Given the description of an element on the screen output the (x, y) to click on. 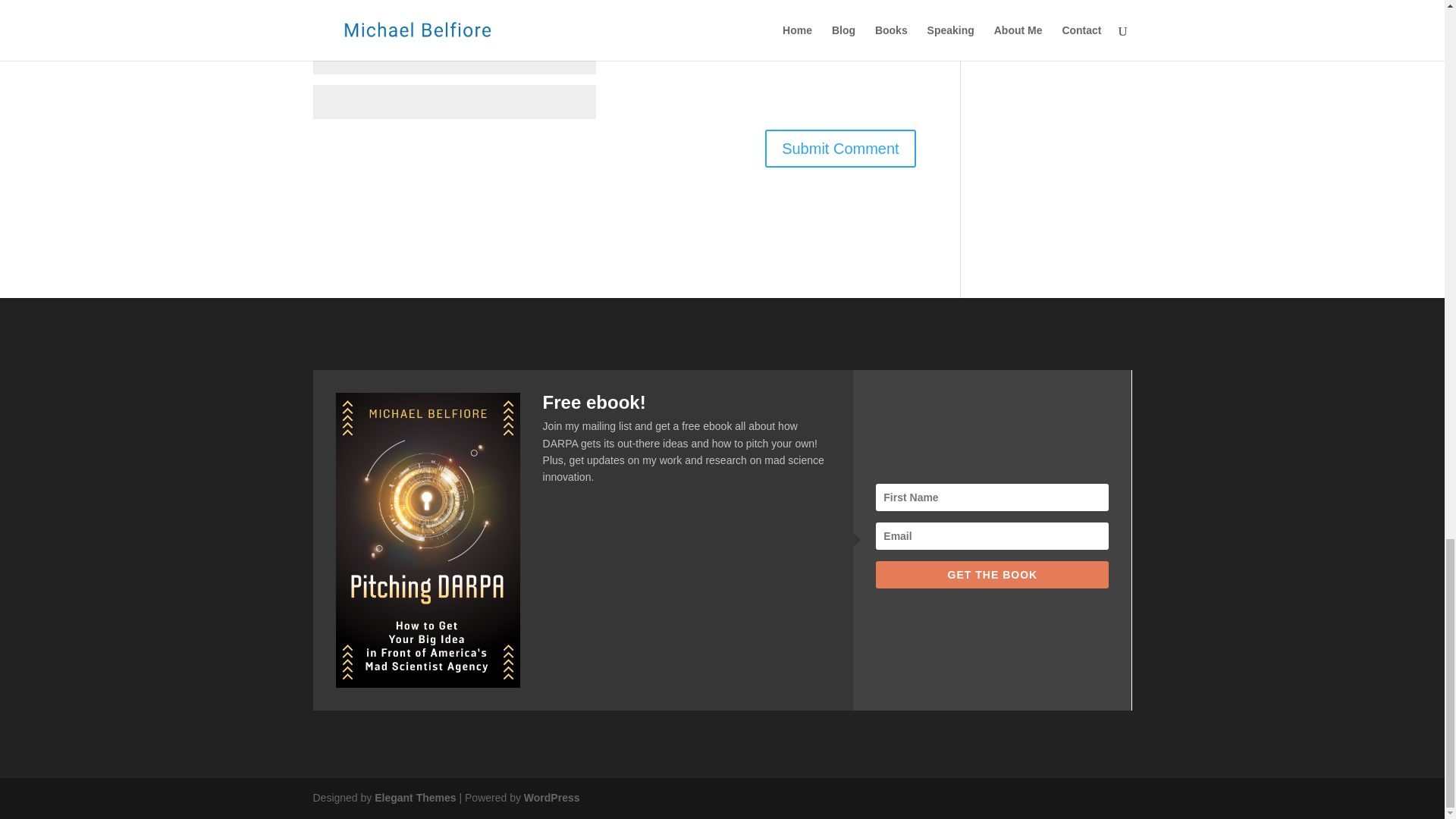
GET THE BOOK (992, 574)
Elegant Themes (414, 797)
Submit Comment (840, 148)
WordPress (551, 797)
Submit Comment (840, 148)
Premium WordPress Themes (414, 797)
